Given the description of an element on the screen output the (x, y) to click on. 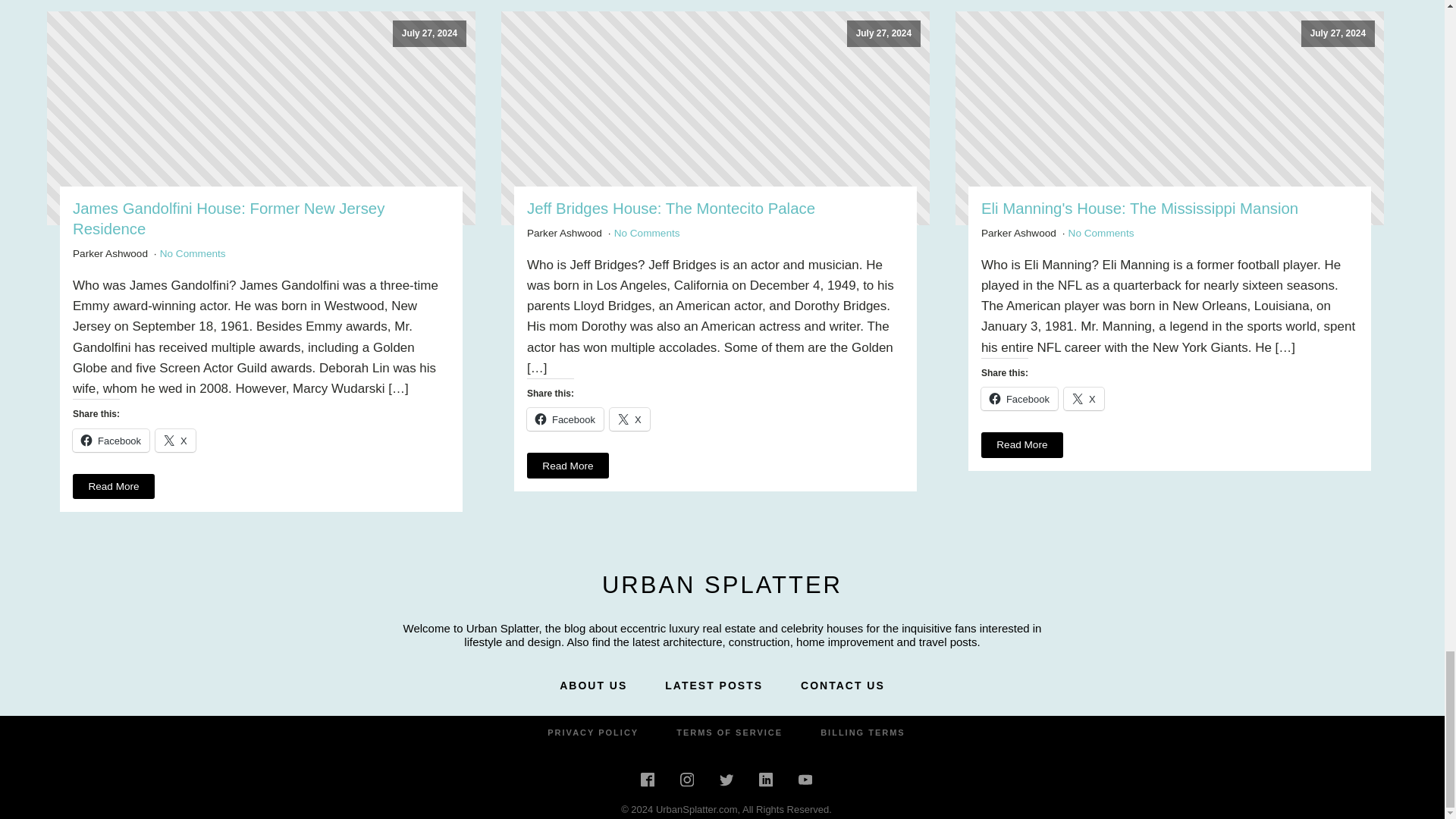
Click to share on X (629, 418)
Click to share on Facebook (1019, 398)
Click to share on X (175, 440)
Click to share on Facebook (565, 418)
Click to share on X (1083, 398)
Click to share on Facebook (110, 440)
